Given the description of an element on the screen output the (x, y) to click on. 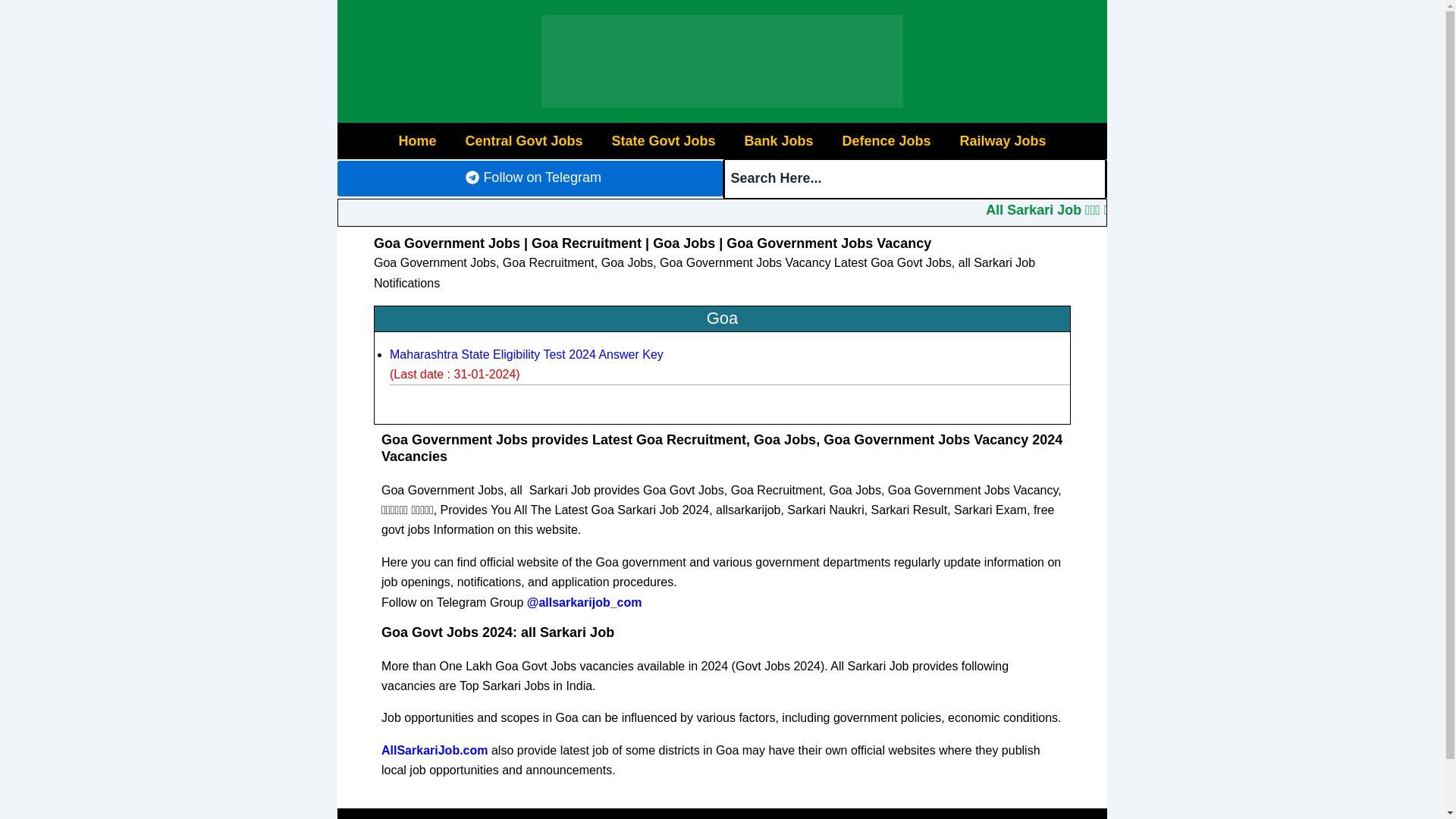
State Govt Jobs (662, 140)
AllSarkariJob.com (434, 749)
Maharashtra State Eligibility Test 2024 Answer Key (526, 354)
Home (416, 140)
Defence Jobs (886, 140)
Railway Jobs (1003, 140)
Follow on Telegram (529, 178)
Central Govt Jobs (523, 140)
Contact Us (779, 813)
Privacy Policy (674, 813)
Bank Jobs (778, 140)
Search (915, 178)
